Given the description of an element on the screen output the (x, y) to click on. 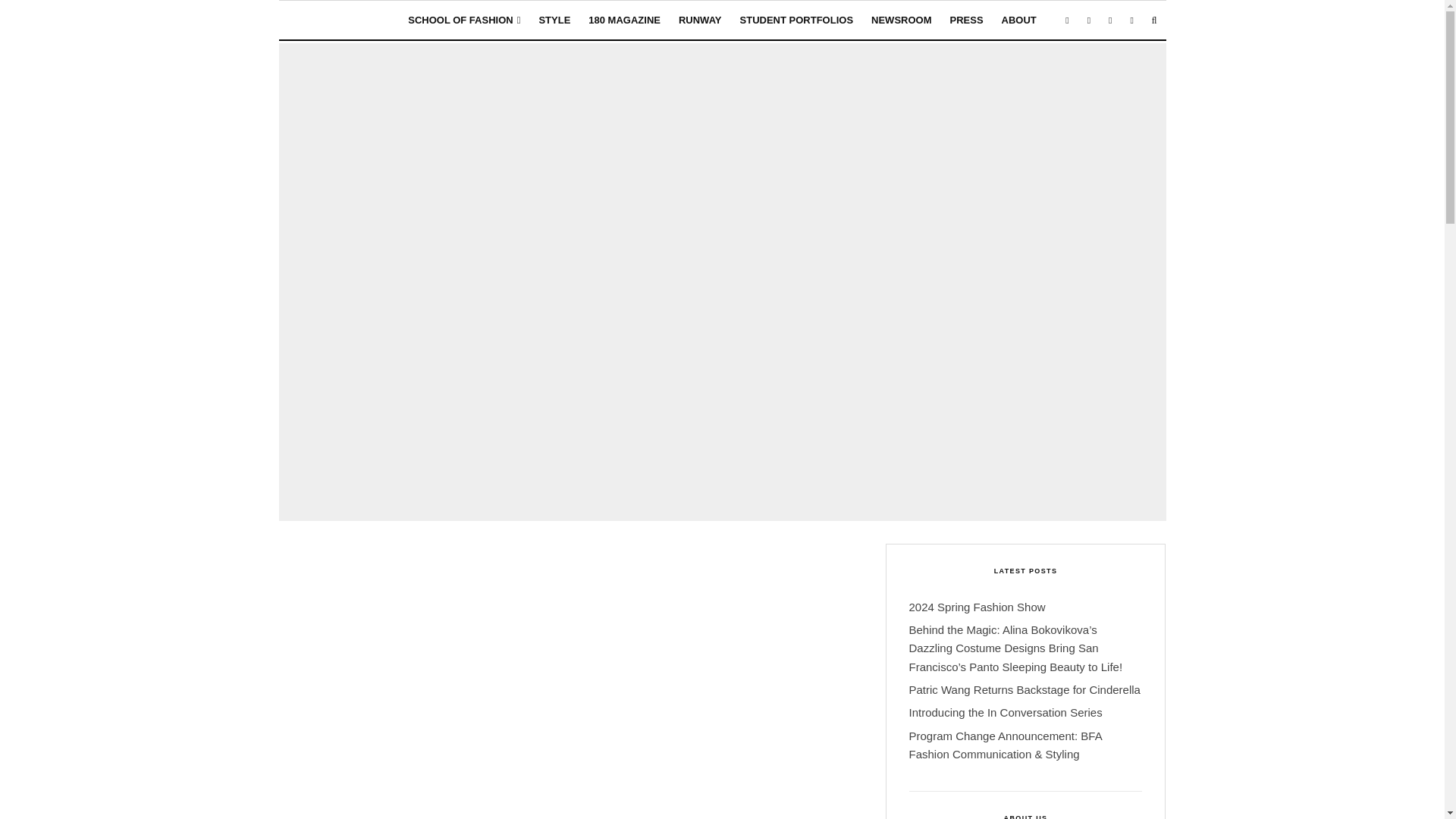
RUNWAY (699, 19)
SCHOOL OF FASHION (463, 19)
STYLE (554, 19)
180 MAGAZINE (624, 19)
STUDENT PORTFOLIOS (796, 19)
